Given the description of an element on the screen output the (x, y) to click on. 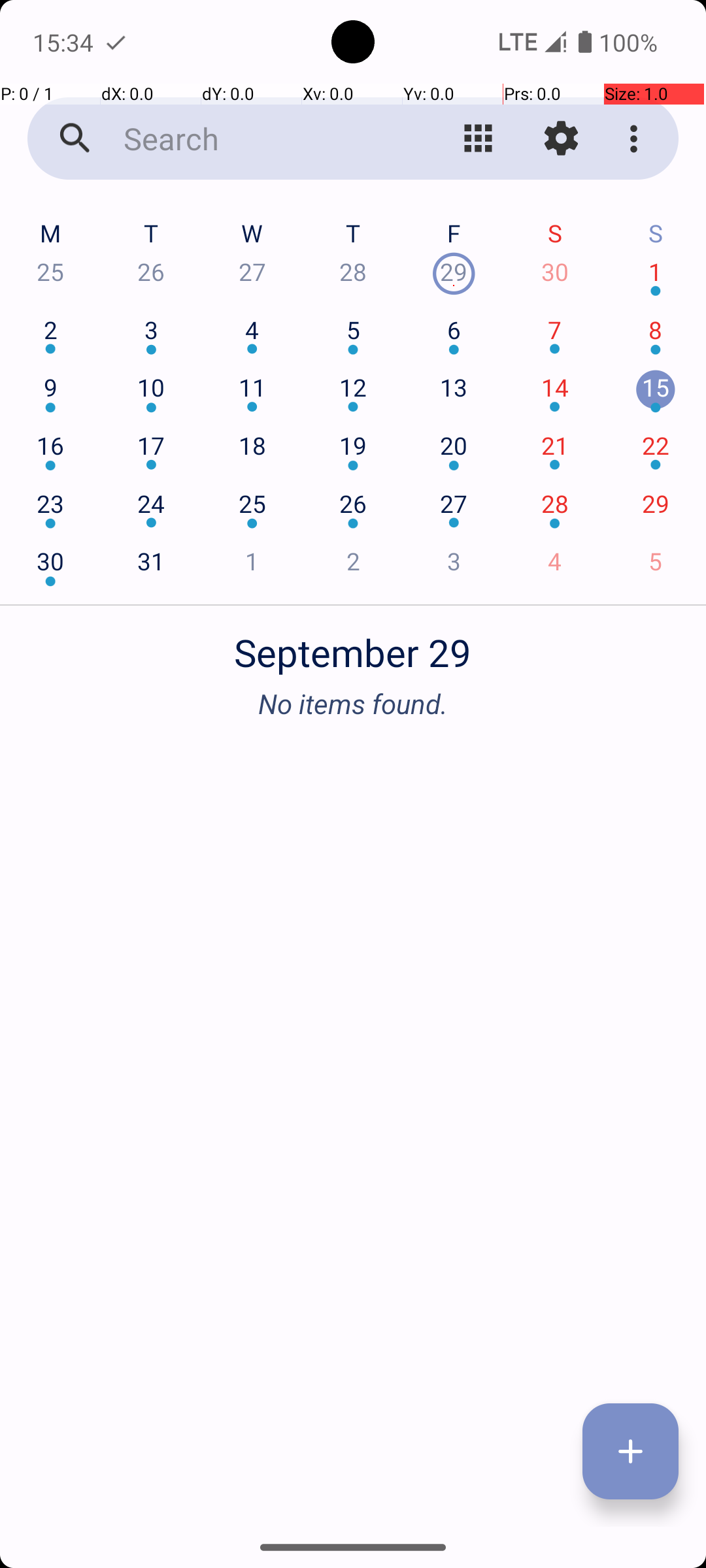
September 29 Element type: android.widget.TextView (352, 644)
